Given the description of an element on the screen output the (x, y) to click on. 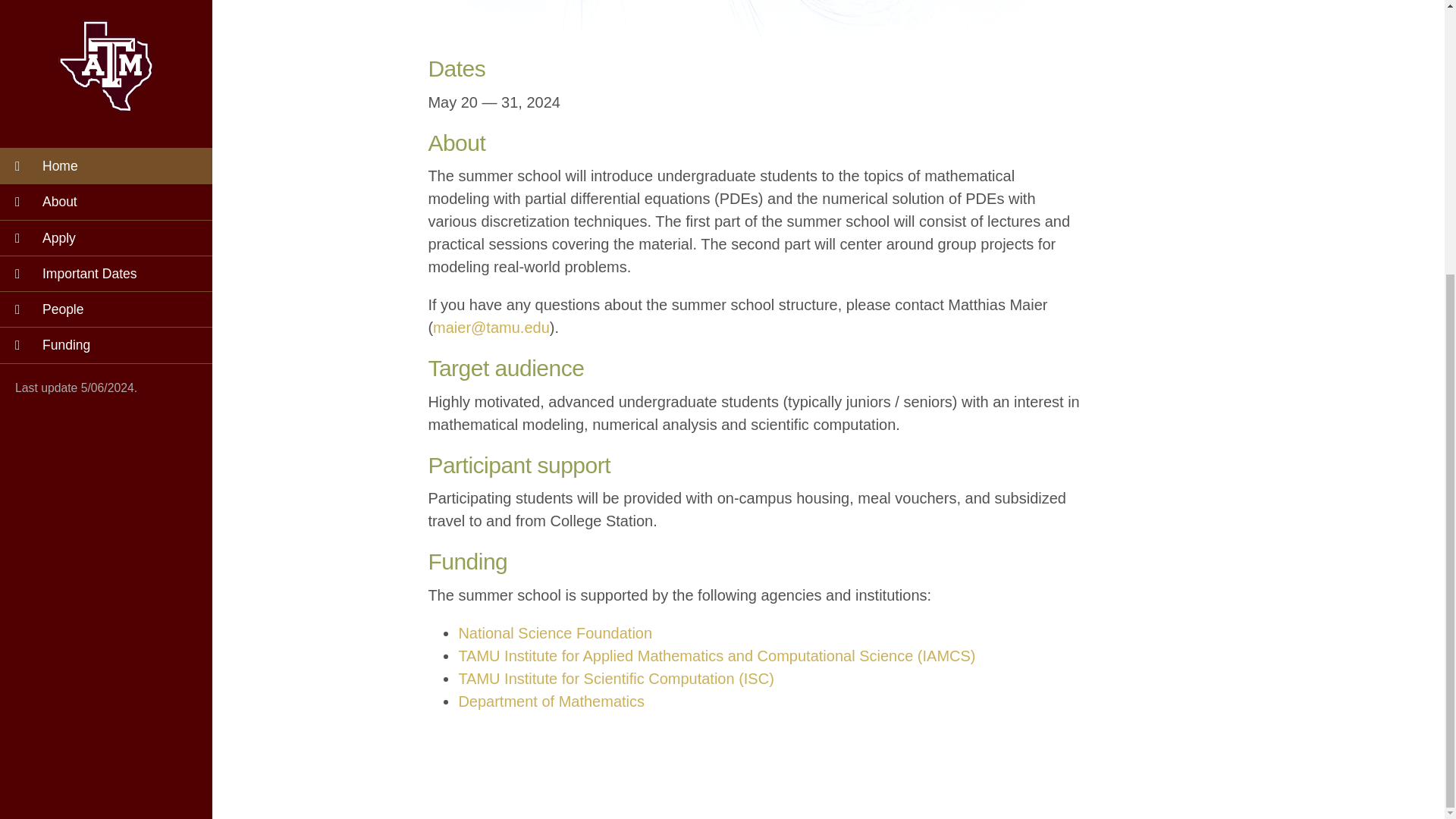
Department of Mathematics (551, 701)
National Science Foundation (555, 632)
